Given the description of an element on the screen output the (x, y) to click on. 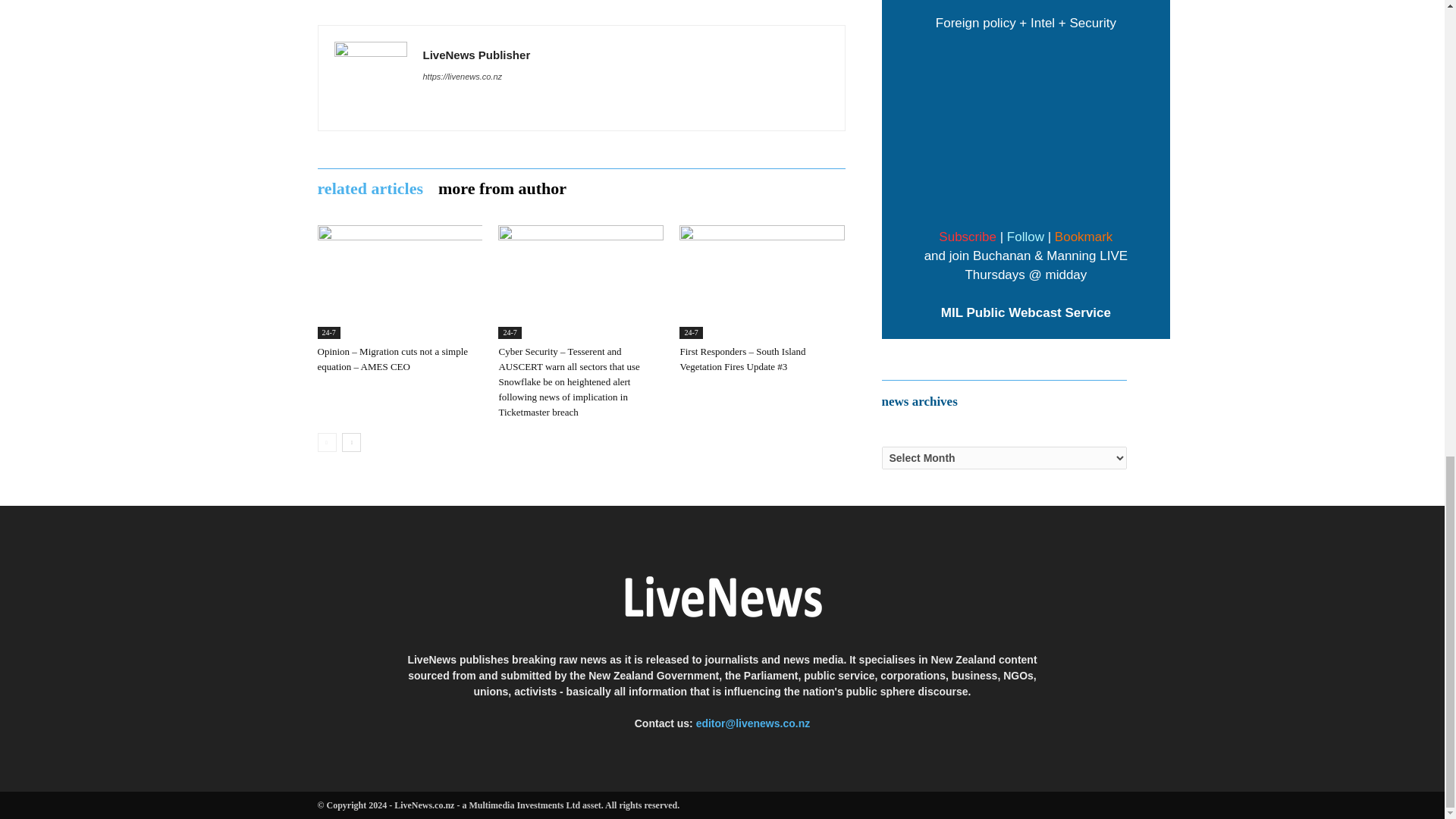
YouTube video player (1026, 126)
